Given the description of an element on the screen output the (x, y) to click on. 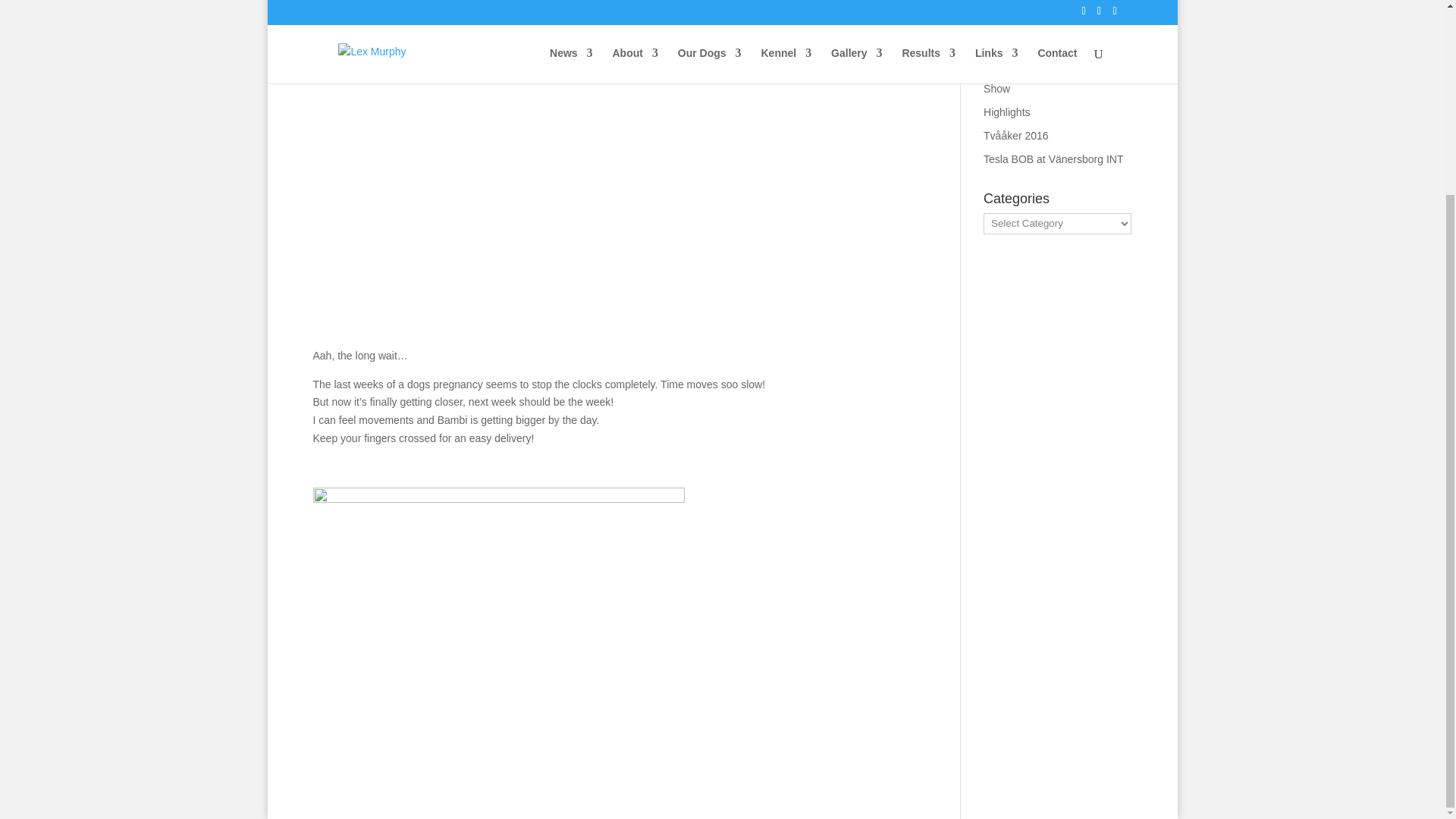
Bambi, day 60 (498, 612)
